Given the description of an element on the screen output the (x, y) to click on. 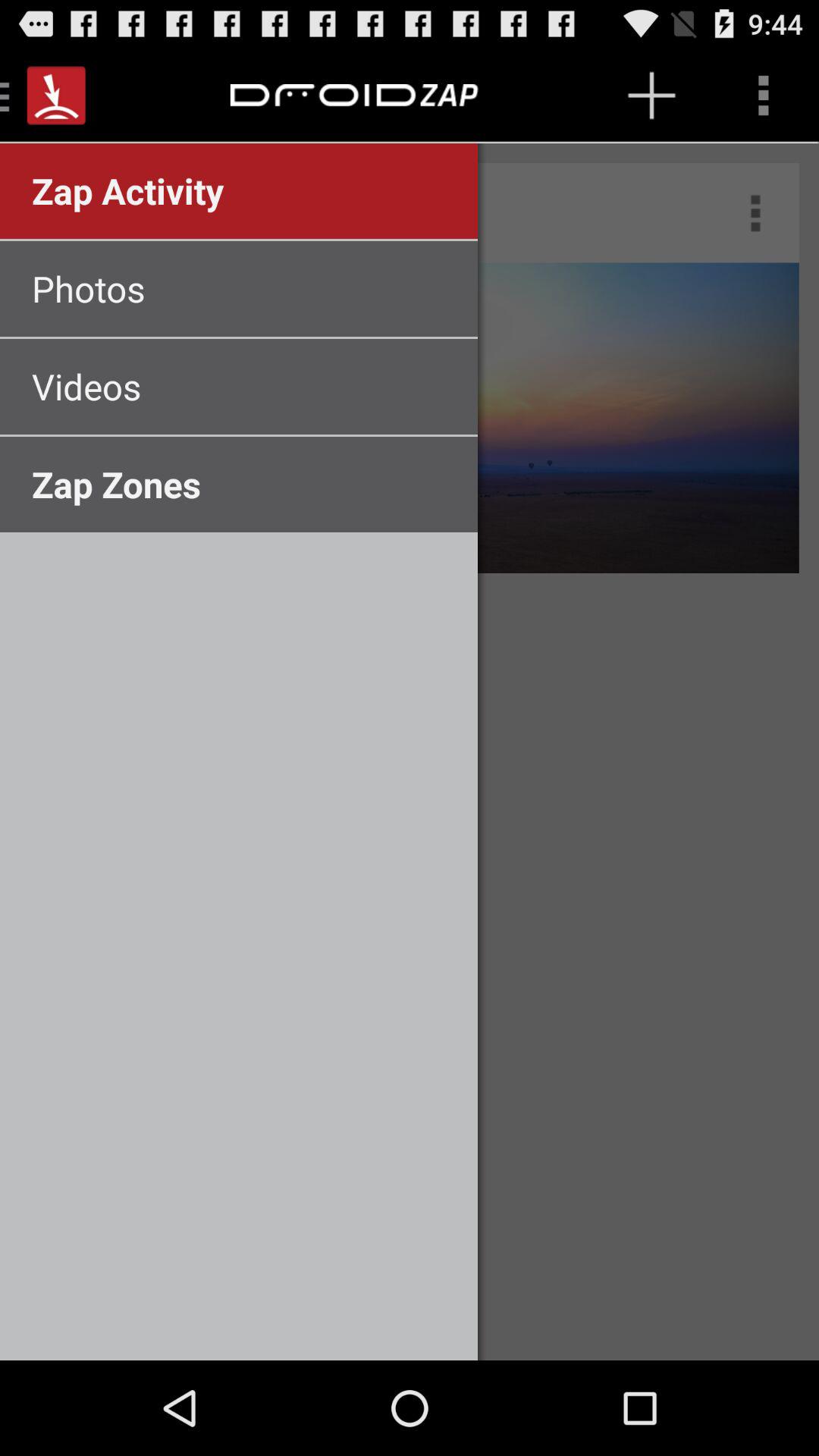
select header (346, 95)
click on plus symbol (651, 95)
go to red color icon at top left corner (55, 95)
